Given the description of an element on the screen output the (x, y) to click on. 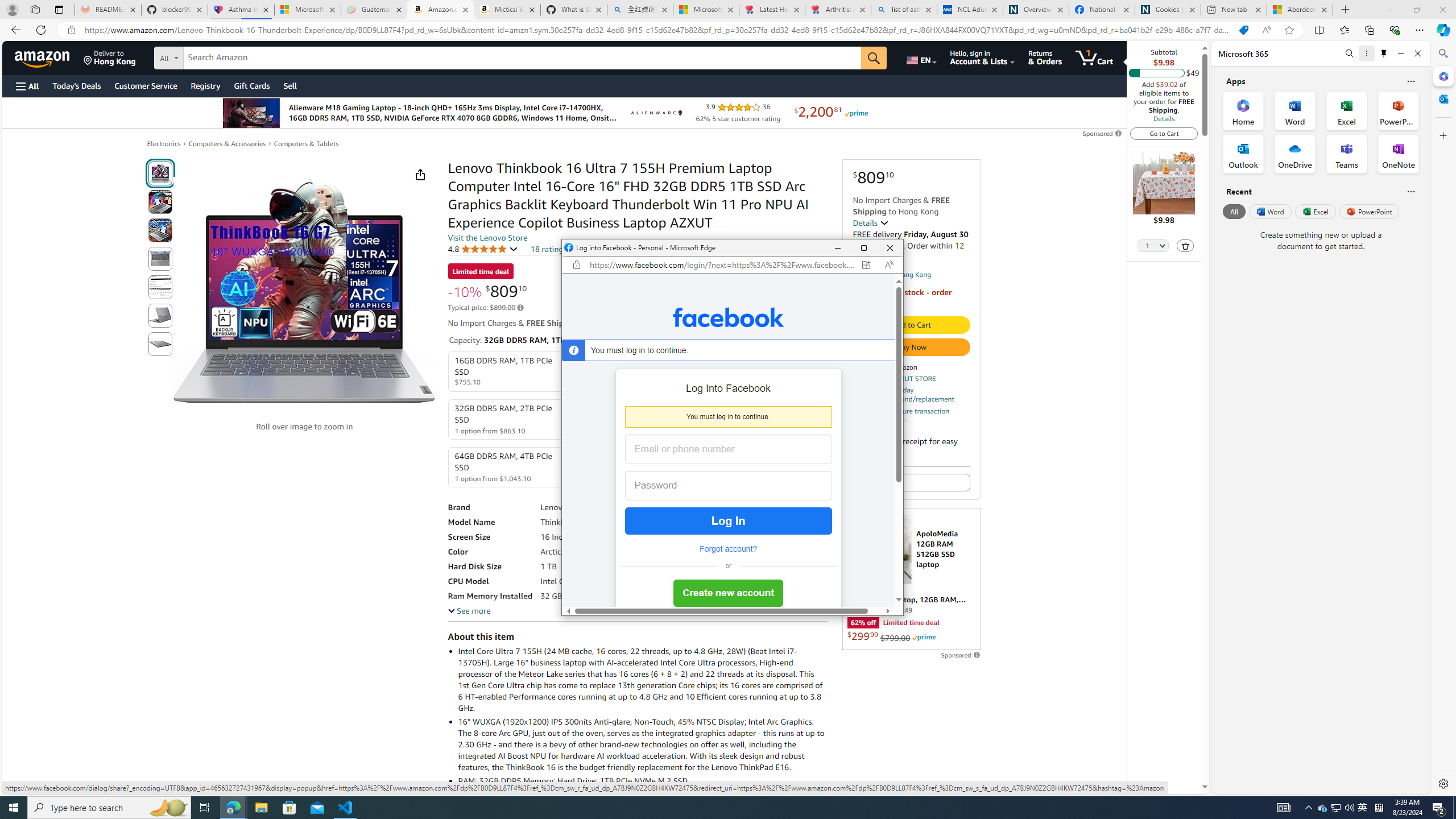
Hello, sign in Account & Lists (982, 57)
Show desktop (1454, 807)
Q2790: 100% (1349, 807)
PowerPoint Office App (1398, 110)
Start (13, 807)
Task View (204, 807)
Skip to main content (48, 56)
Microsoft Store (289, 807)
Teams Office App (1346, 154)
Arthritis: Ask Health Professionals (838, 9)
